Given the description of an element on the screen output the (x, y) to click on. 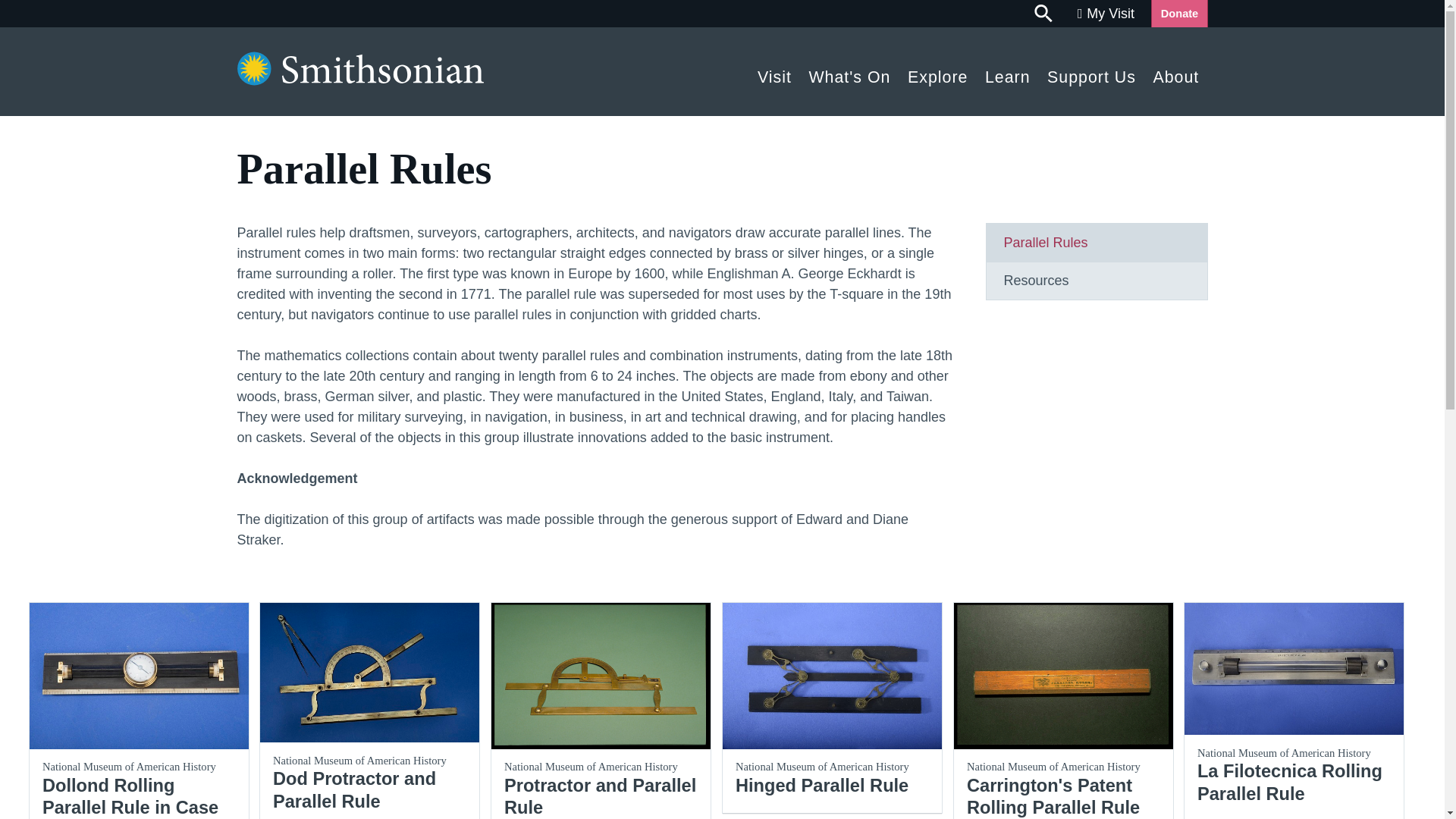
Visit (774, 72)
My Visit (1105, 13)
Search (1044, 13)
What's On (849, 72)
Explore (937, 72)
Donate (1179, 13)
Home (359, 80)
